Given the description of an element on the screen output the (x, y) to click on. 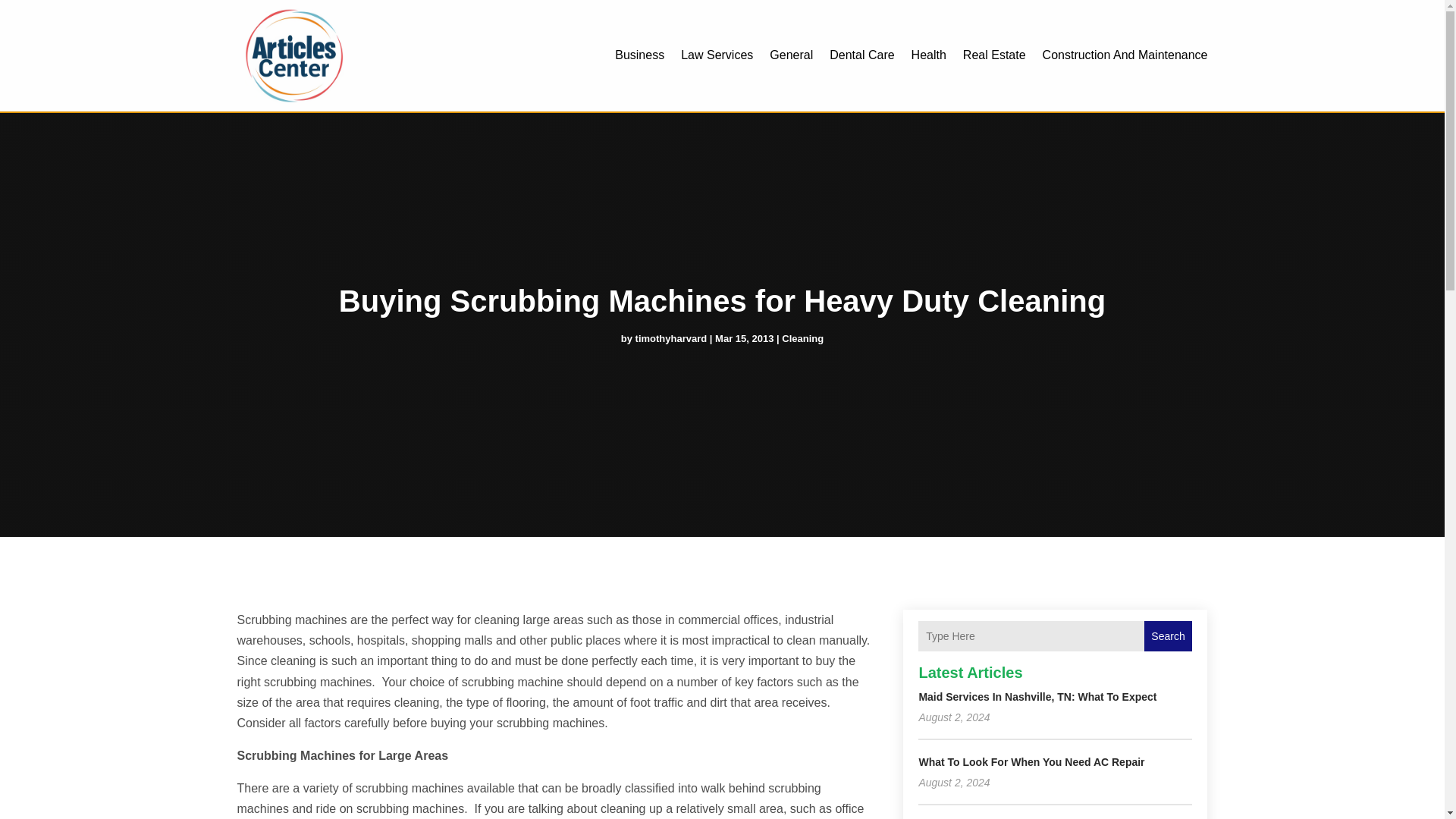
Maid Services In Nashville, TN: What To Expect (1037, 696)
Cleaning (802, 337)
Construction And Maintenance (1125, 55)
Search (1168, 635)
Posts by timothyharvard (670, 337)
timothyharvard (670, 337)
What To Look For When You Need AC Repair (1031, 761)
